Given the description of an element on the screen output the (x, y) to click on. 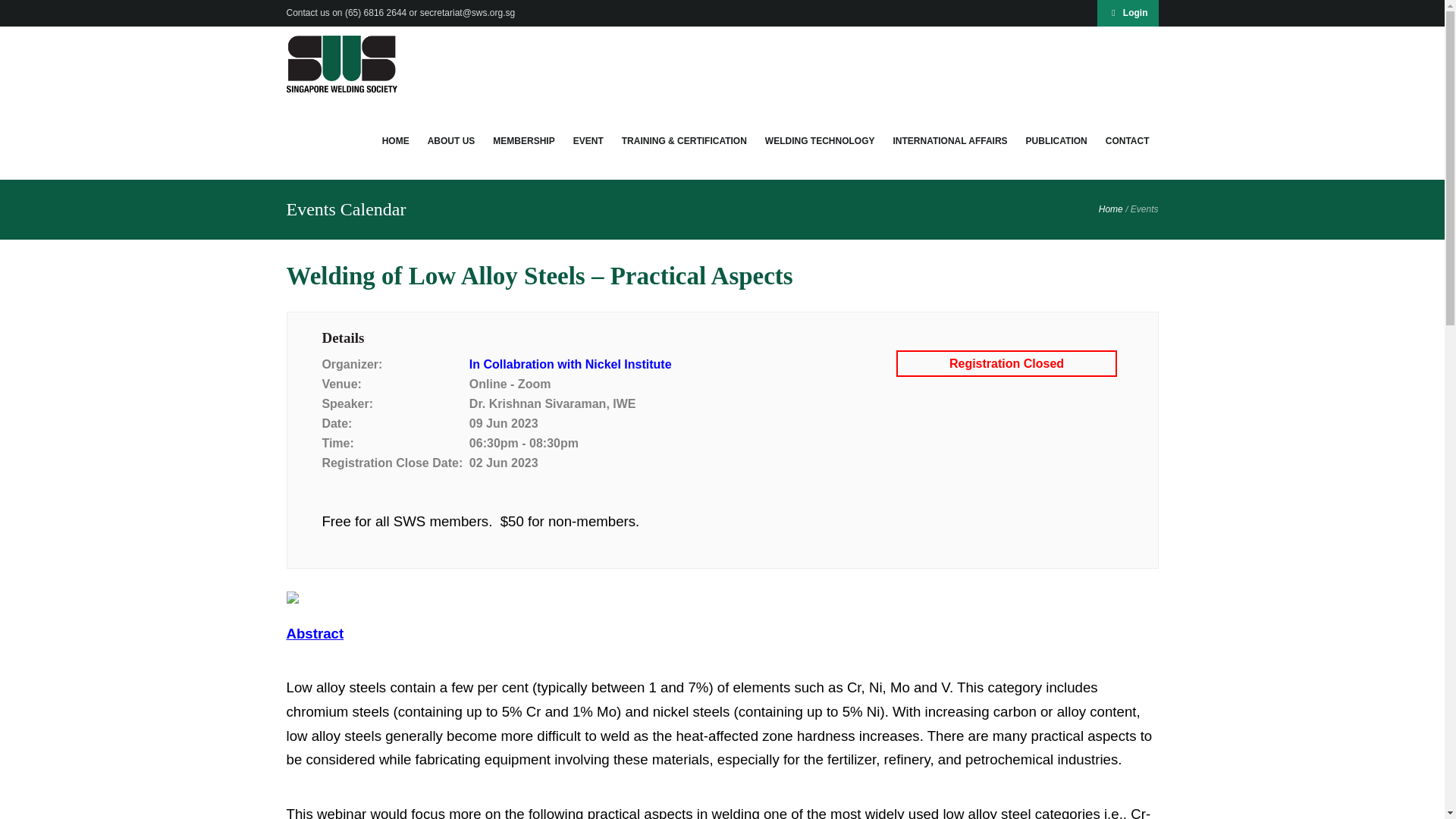
WELDING TECHNOLOGY (819, 141)
PUBLICATION (1056, 141)
INTERNATIONAL AFFAIRS (949, 141)
Event (588, 141)
EVENT (588, 141)
Home (395, 141)
MEMBERSHIP (523, 141)
Home (1110, 209)
Membership (523, 141)
Login (1128, 13)
